Given the description of an element on the screen output the (x, y) to click on. 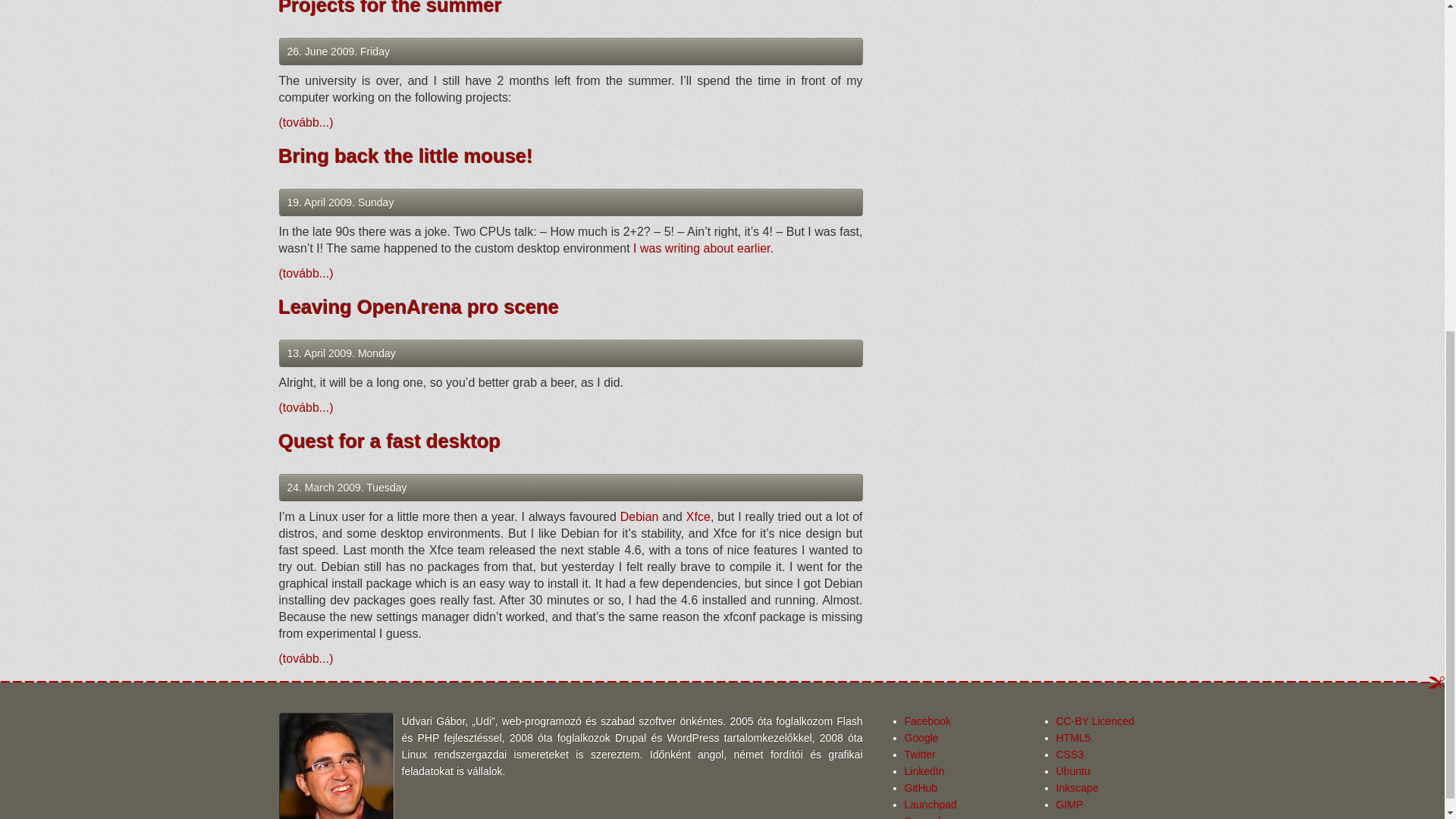
CC-BY Licenced (1094, 720)
Launchpad (930, 804)
HTML5 (1072, 737)
I was writing about earlier (701, 247)
Leaving OpenArena pro scene (419, 306)
Projects for the summer (390, 7)
GitHub (920, 787)
CSS3 (1069, 754)
Quest for a fast desktop (389, 441)
Xfce (697, 516)
Google (920, 737)
Bring back the little mouse! (406, 156)
Facebook (927, 720)
LinkedIn (923, 770)
Twitter (919, 754)
